Given the description of an element on the screen output the (x, y) to click on. 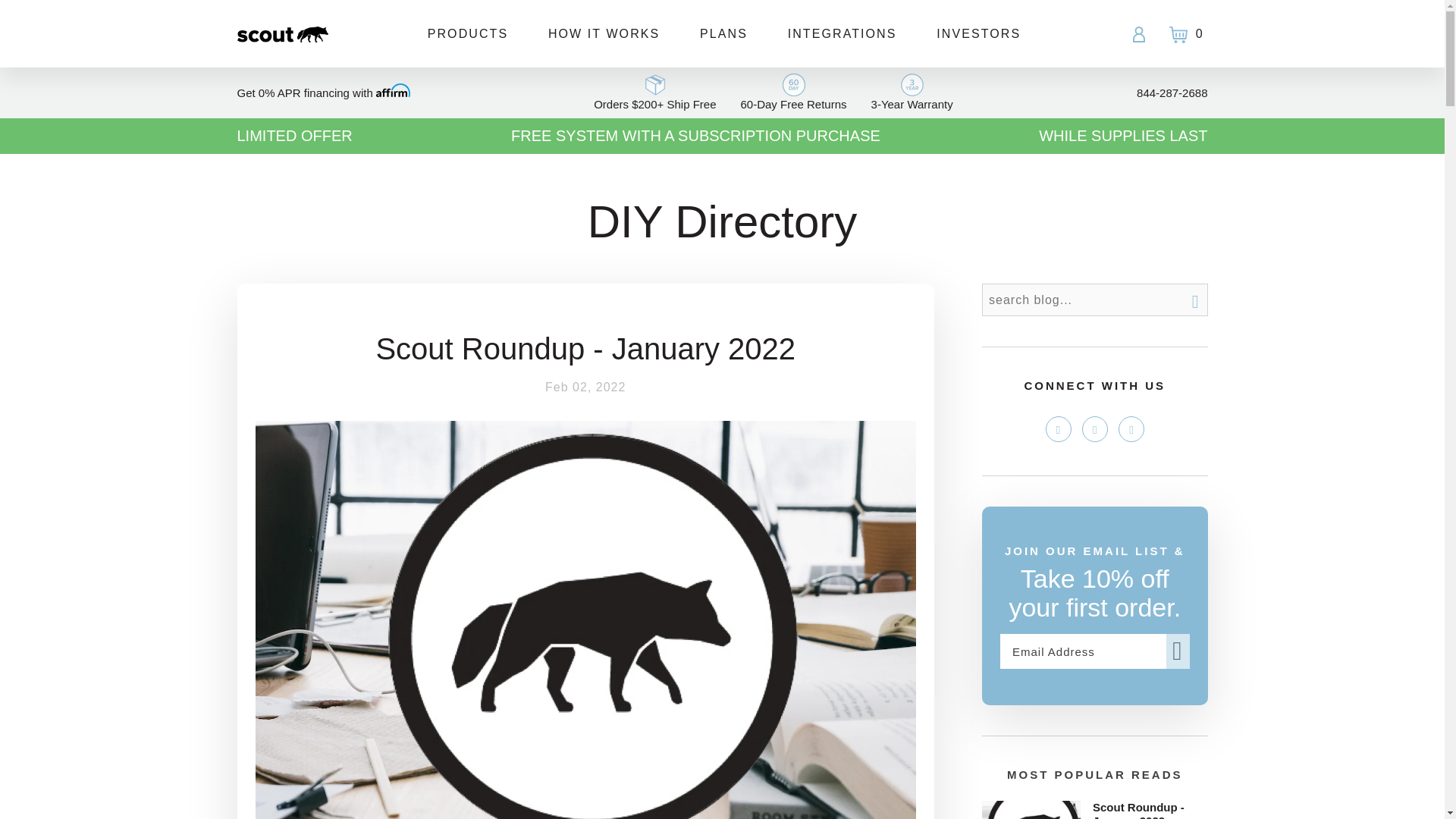
INVESTORS (970, 32)
HOW IT WORKS (603, 32)
3-Year Warranty (911, 92)
0 (1182, 32)
PLANS (723, 32)
INTEGRATIONS (842, 32)
60-Day Free Returns (792, 92)
PRODUCTS (467, 32)
